Given the description of an element on the screen output the (x, y) to click on. 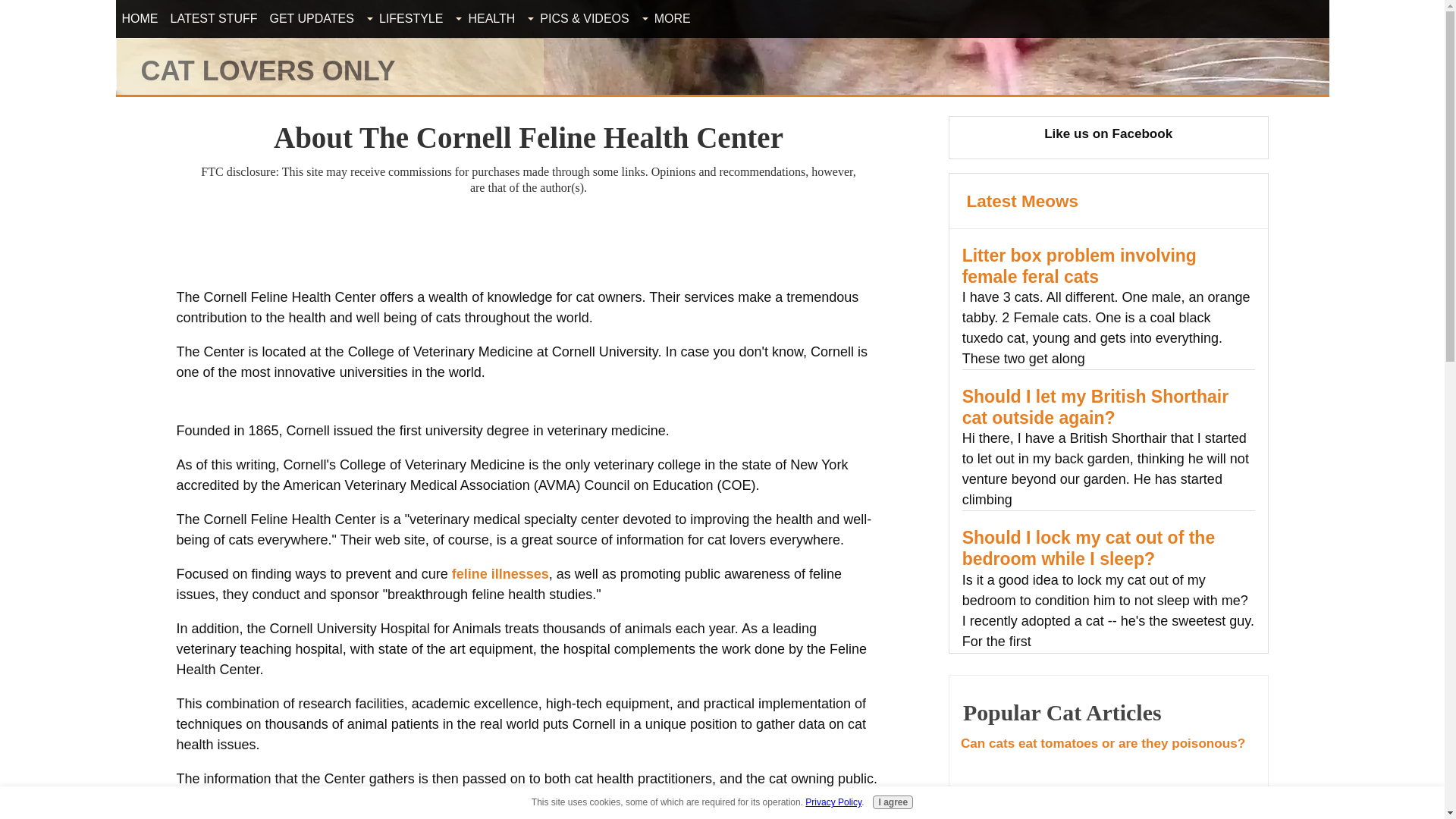
HOME (139, 18)
GET UPDATES (311, 18)
feline illnesses (499, 573)
LATEST STUFF (213, 18)
CAT LOVERS ONLY (268, 70)
